Given the description of an element on the screen output the (x, y) to click on. 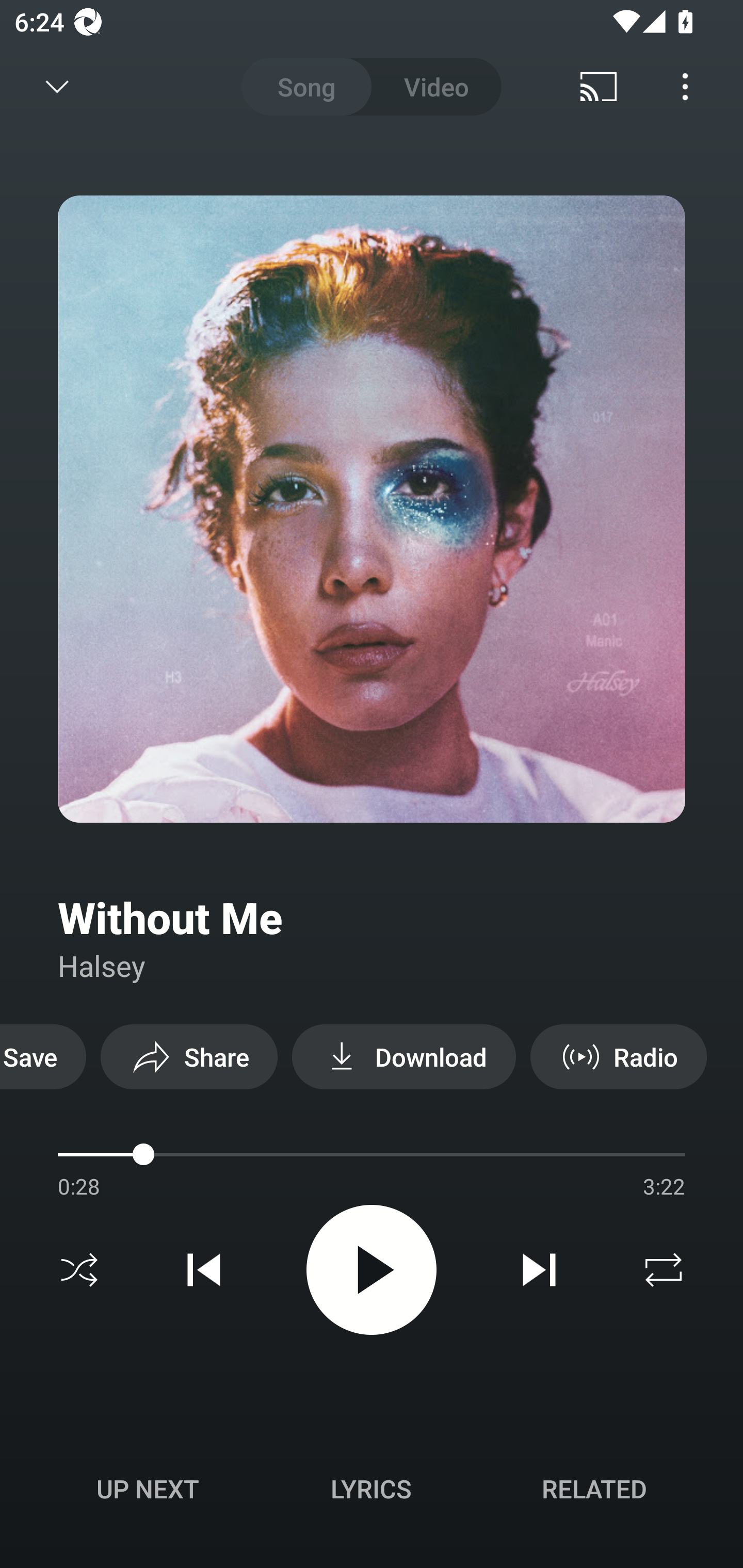
Minimize (57, 86)
Cast. Disconnected (598, 86)
Menu (684, 86)
Save Save to playlist (43, 1056)
Share (188, 1056)
Download (403, 1056)
Radio (618, 1056)
Play video (371, 1269)
Shuffle off (79, 1269)
Previous track (203, 1269)
Next track (538, 1269)
Repeat off (663, 1269)
Up next UP NEXT Lyrics LYRICS Related RELATED (371, 1491)
Lyrics LYRICS (370, 1488)
Related RELATED (594, 1488)
